Given the description of an element on the screen output the (x, y) to click on. 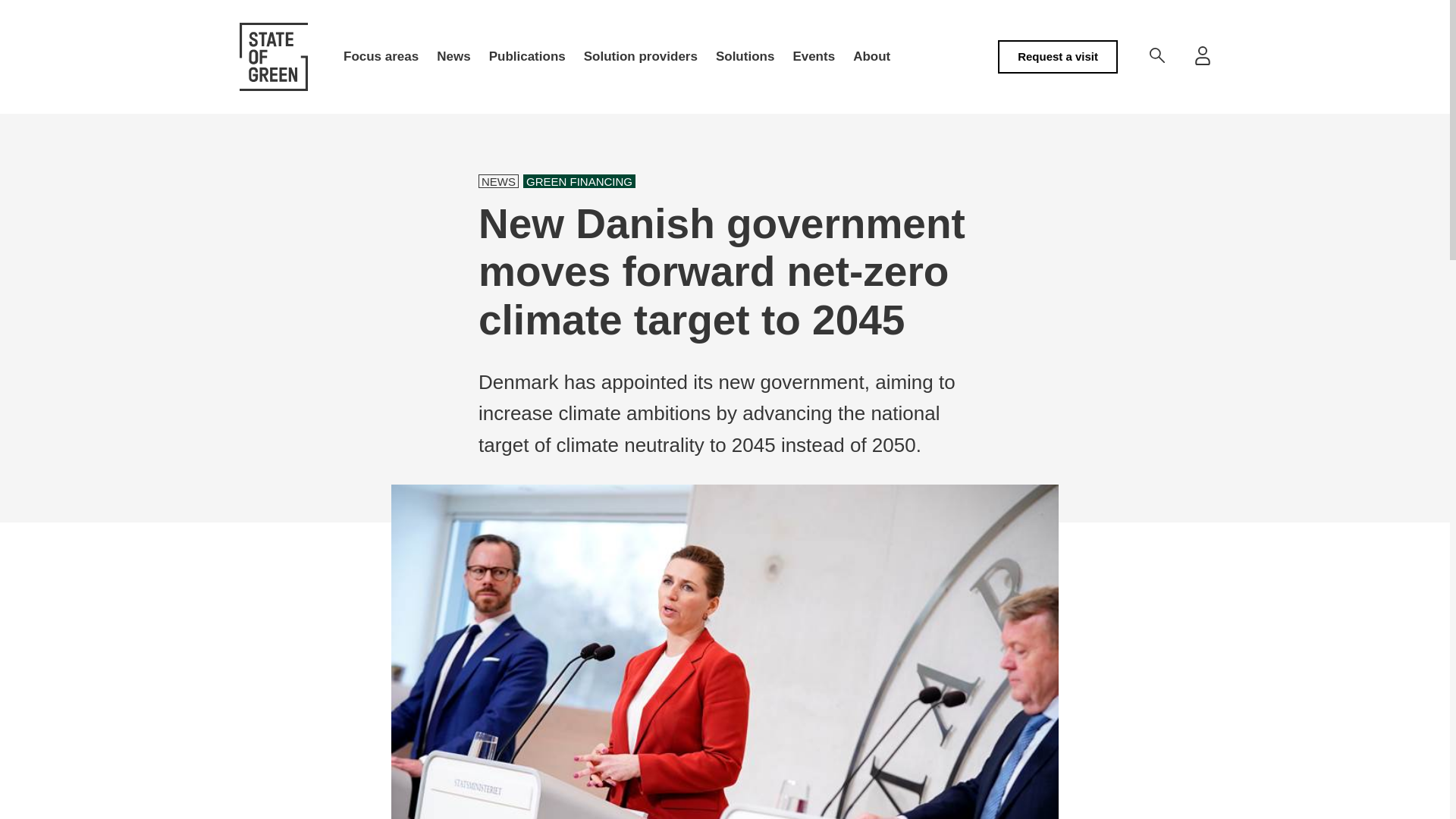
Publications (527, 56)
Request a visit (1057, 56)
Solution providers (640, 56)
Focus areas (381, 56)
About (871, 56)
Events (813, 56)
Solutions (744, 56)
News (453, 56)
